Given the description of an element on the screen output the (x, y) to click on. 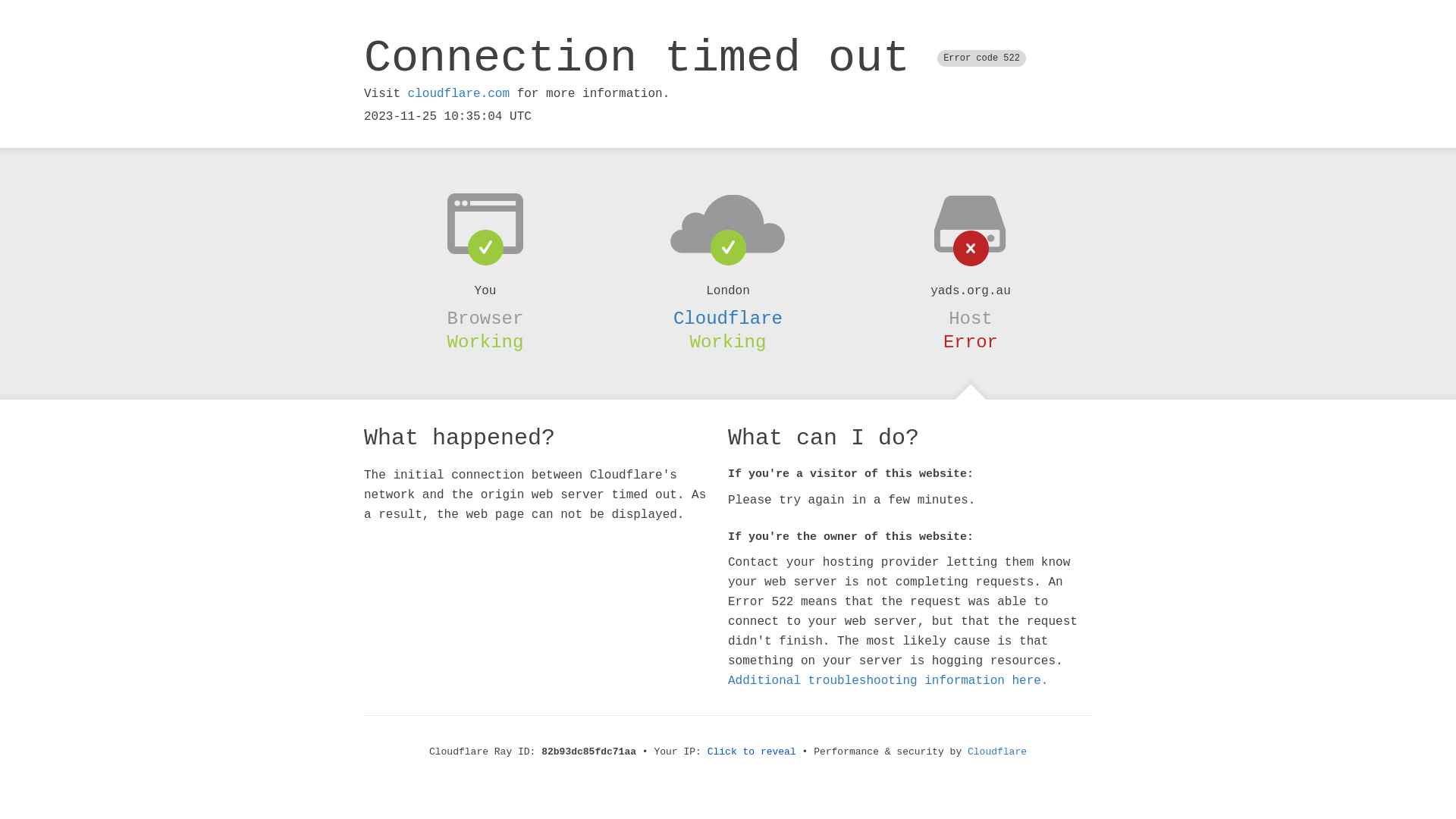
Click to reveal Element type: text (751, 751)
Additional troubleshooting information here. Element type: text (888, 680)
cloudflare.com Element type: text (458, 93)
Cloudflare Element type: text (996, 751)
Cloudflare Element type: text (727, 318)
